Given the description of an element on the screen output the (x, y) to click on. 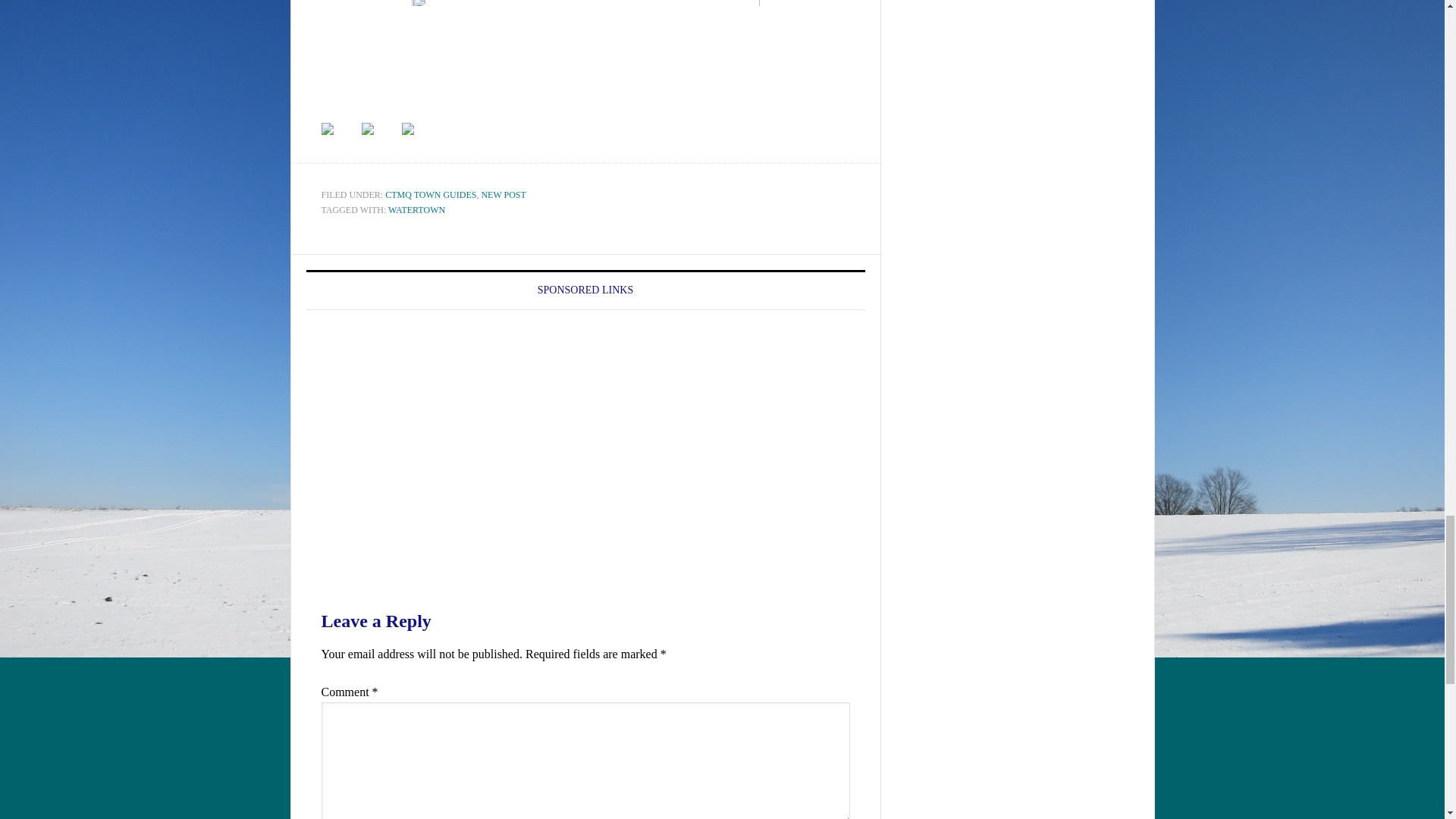
Share on Reddit (407, 128)
Share on Reddit (419, 140)
Share on Twitter (379, 140)
Share on Facebook (327, 128)
Share on Facebook (339, 140)
Share on Twitter (366, 128)
